Given the description of an element on the screen output the (x, y) to click on. 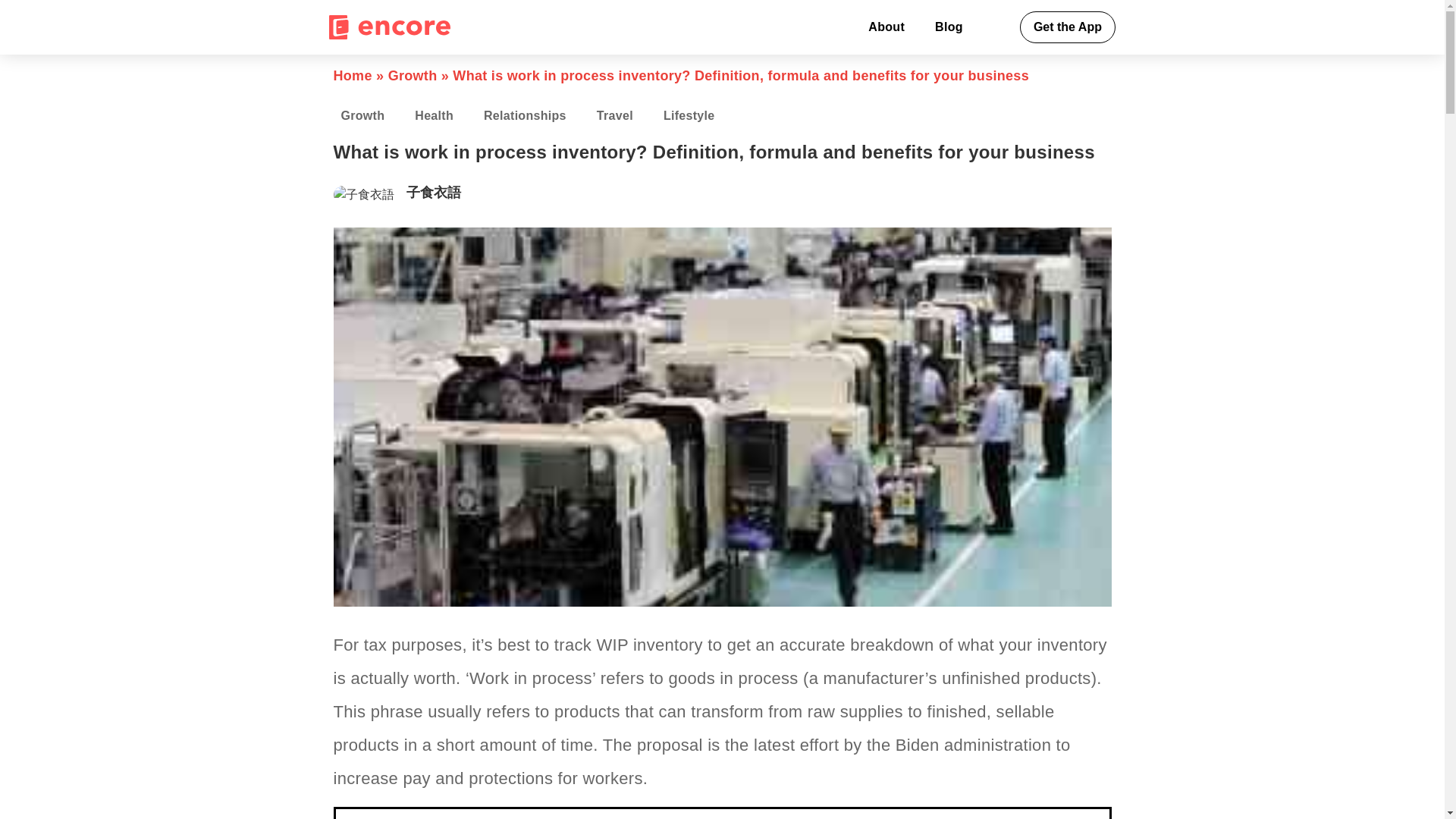
Travel (613, 116)
Home (352, 75)
Get the App (1068, 27)
Growth (413, 75)
Relationships (524, 116)
Growth (363, 116)
Lifestyle (688, 116)
Blog (949, 27)
About (886, 27)
Health (433, 116)
